Given the description of an element on the screen output the (x, y) to click on. 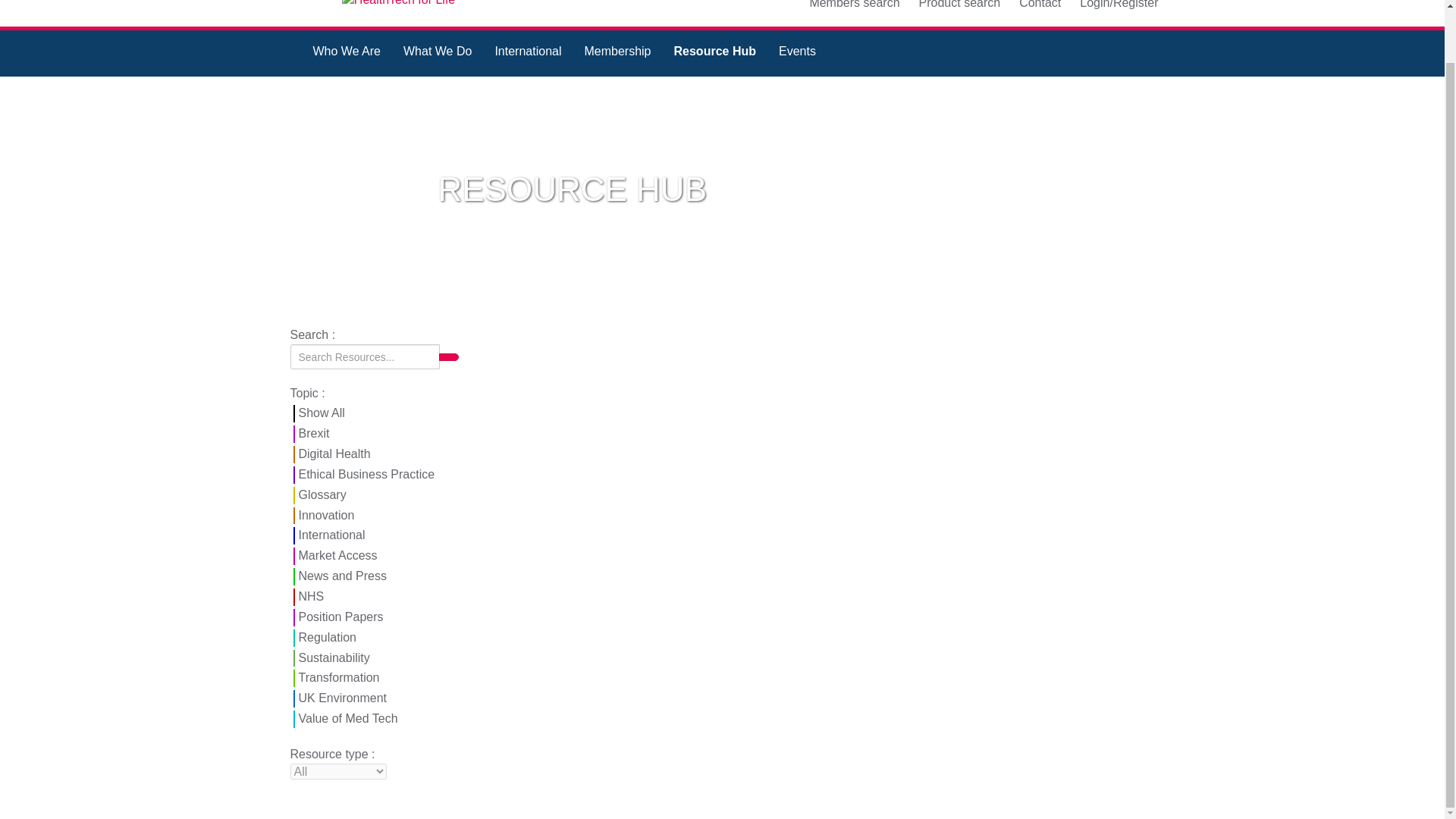
Contact (1040, 4)
Product search (959, 4)
Members search (854, 4)
Resource Hub (714, 53)
Who We Are (347, 53)
Events (797, 53)
International (527, 53)
Membership (617, 53)
What We Do (437, 53)
